Given the description of an element on the screen output the (x, y) to click on. 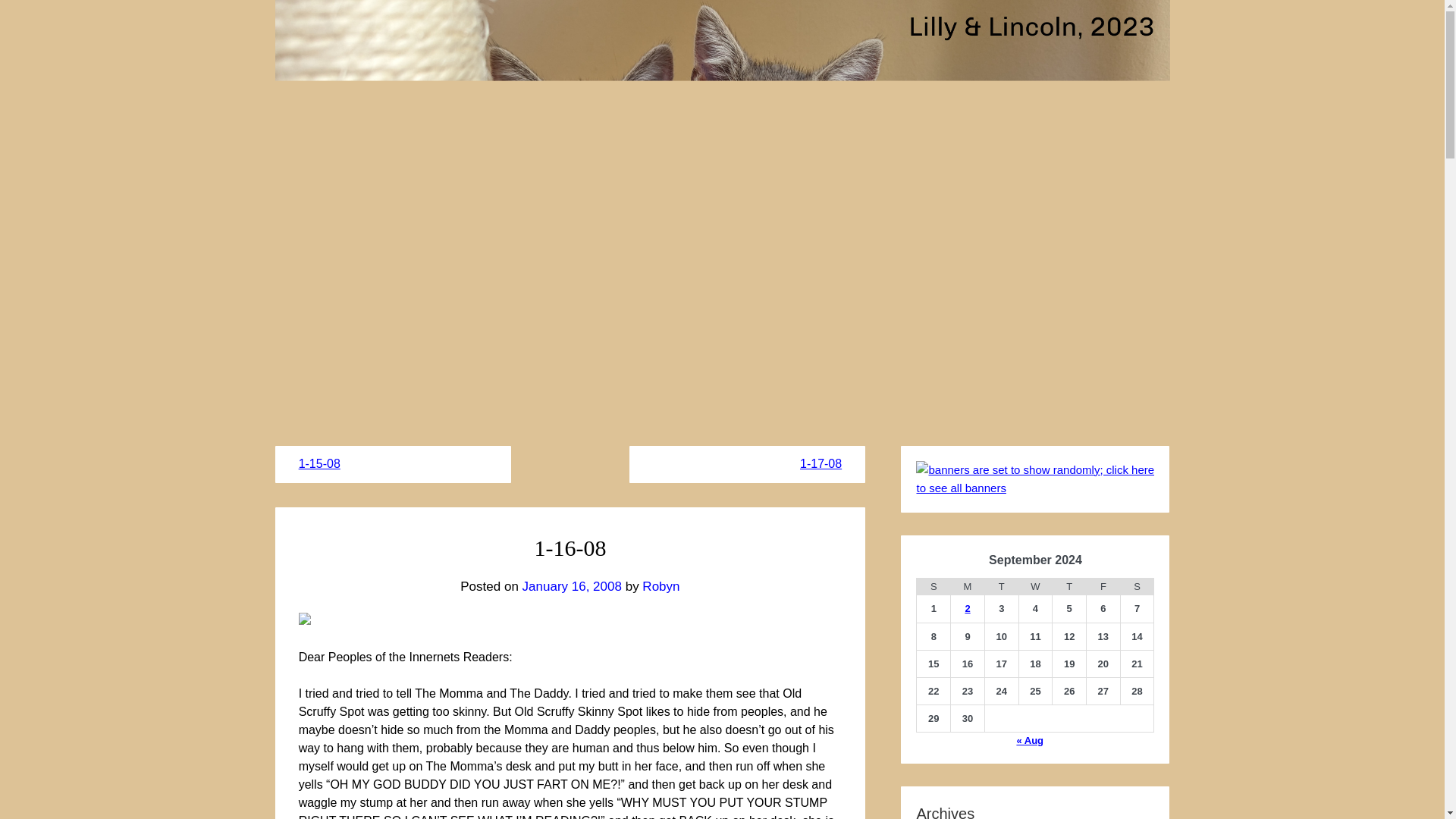
Saturday (1136, 586)
Tuesday (1000, 586)
Sunday (933, 586)
Friday (1102, 586)
Monday (967, 586)
1-17-08 (820, 463)
January 16, 2008 (571, 586)
Thursday (1069, 586)
1-15-08 (319, 463)
Robyn (660, 586)
